Given the description of an element on the screen output the (x, y) to click on. 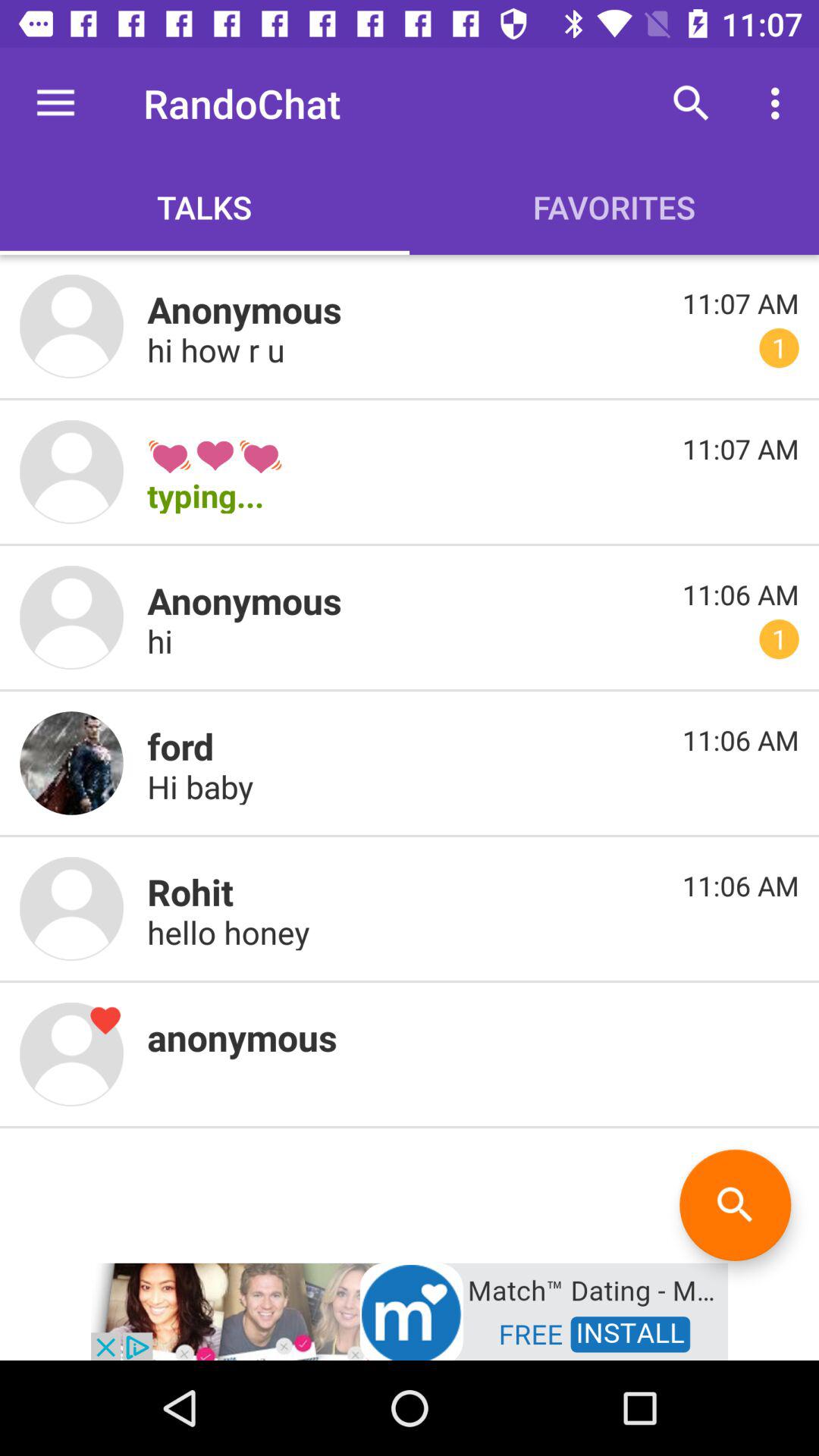
see user info (71, 908)
